Given the description of an element on the screen output the (x, y) to click on. 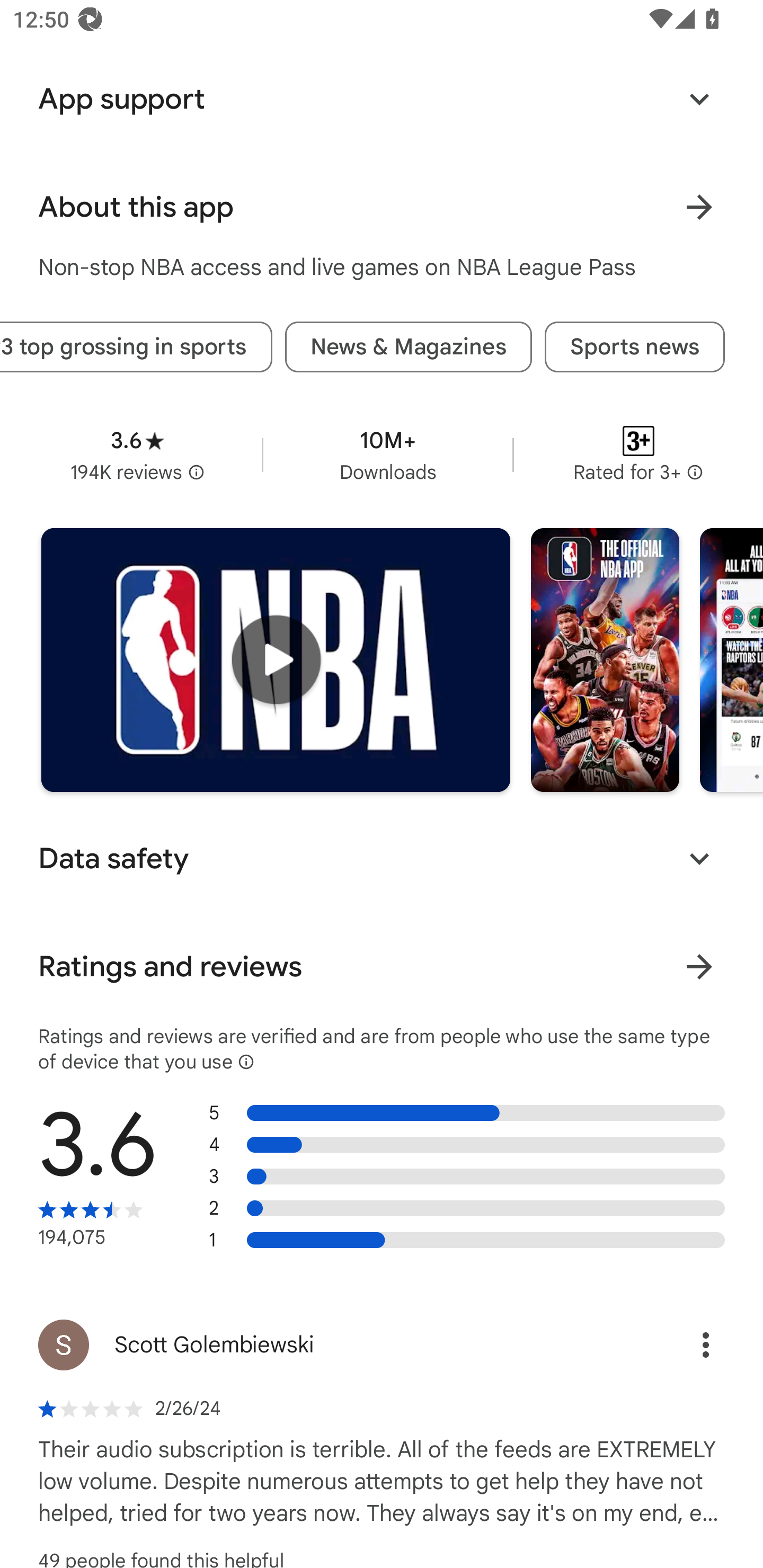
App support Expand (381, 99)
Expand (699, 99)
About this app Learn more About this app (381, 206)
Learn more About this app (699, 206)
#3 top grossing in sports tag (136, 346)
News & Magazines tag (408, 346)
Sports news tag (634, 346)
Average rating 3.6 stars in 194 thousand reviews (137, 455)
Content rating Rated for 3+ (638, 455)
Play trailer for "NBA: Live Games & Scores" (275, 659)
Screenshot "1" of "7" (605, 659)
Data safety Expand (381, 858)
Expand (699, 858)
Ratings and reviews View all ratings and reviews (381, 966)
View all ratings and reviews (699, 966)
Options (686, 1344)
